Given the description of an element on the screen output the (x, y) to click on. 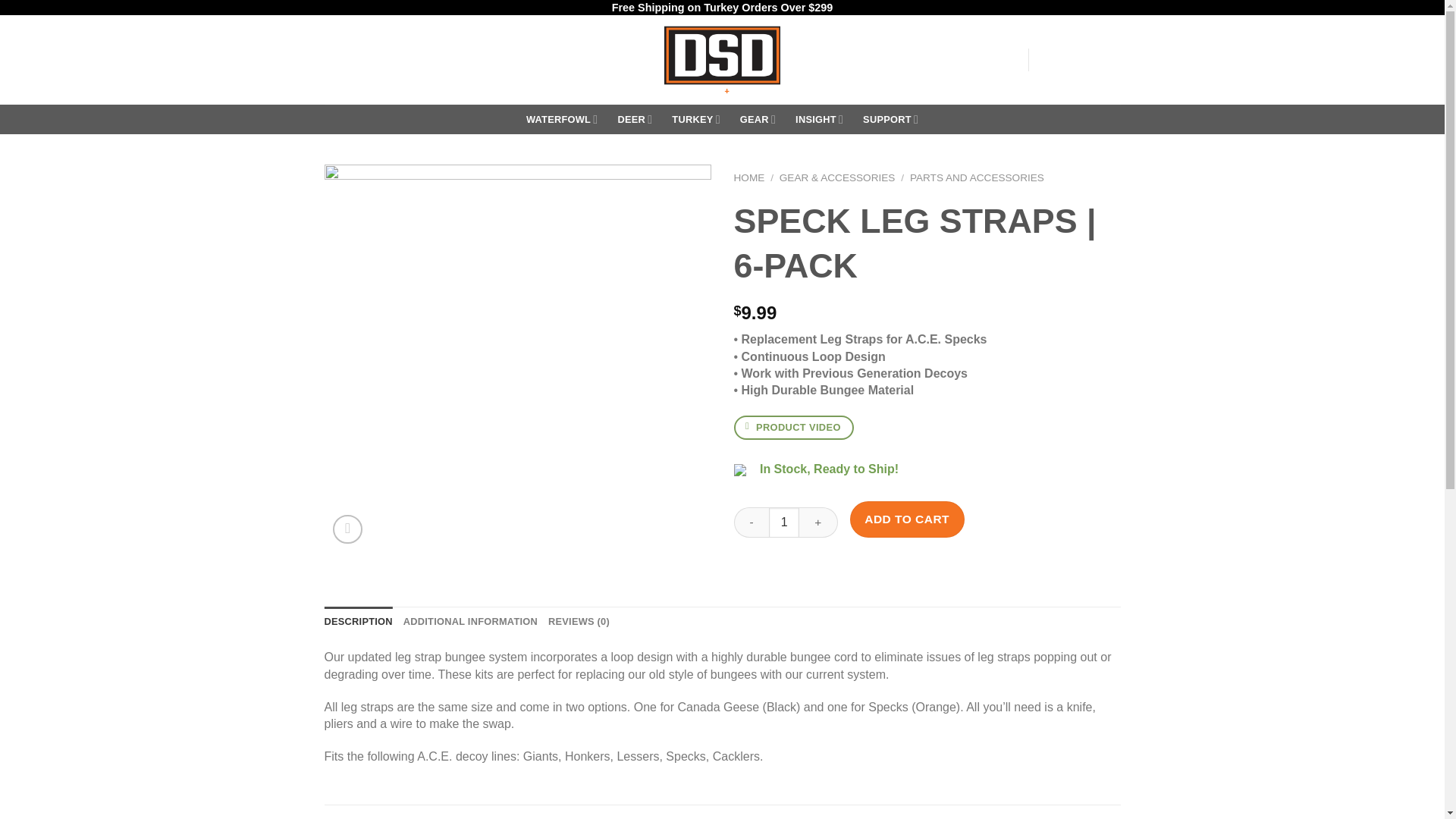
WATERFOWL (561, 119)
- (751, 521)
Zoom (347, 529)
Dave Smith Decoys - The Most Effective Decoys on the Market (721, 59)
1 (783, 521)
Cart (1079, 59)
Login (970, 59)
